Given the description of an element on the screen output the (x, y) to click on. 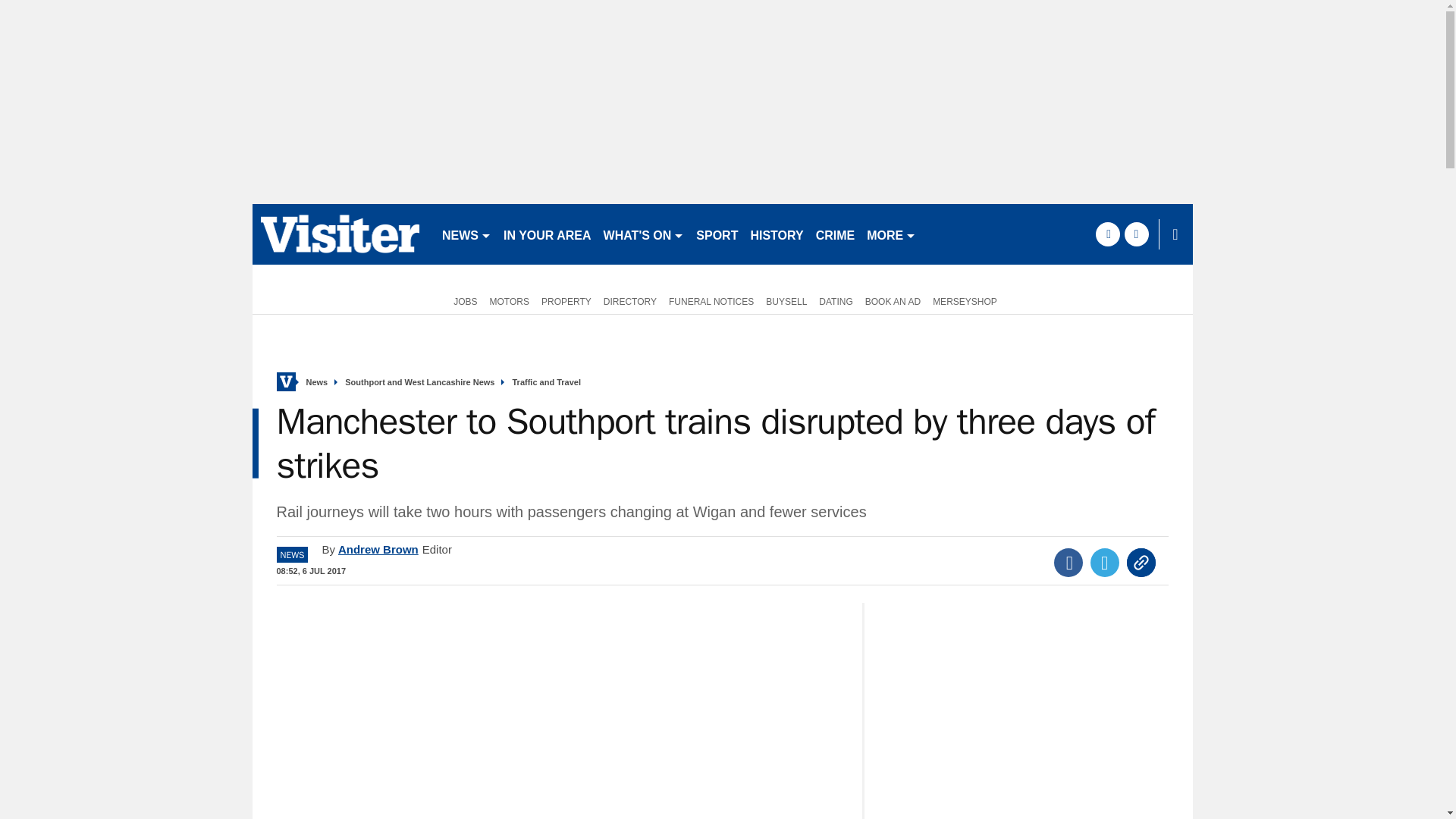
southportvisiter (339, 233)
NEWS (466, 233)
facebook (1106, 233)
Twitter (1104, 562)
MOTORS (509, 300)
JOBS (462, 300)
WHAT'S ON (643, 233)
FUNERAL NOTICES (711, 300)
MORE (890, 233)
HISTORY (776, 233)
Facebook (1068, 562)
DIRECTORY (629, 300)
BOOK AN AD (892, 300)
MERSEYSHOP (964, 300)
Home (285, 381)
